Given the description of an element on the screen output the (x, y) to click on. 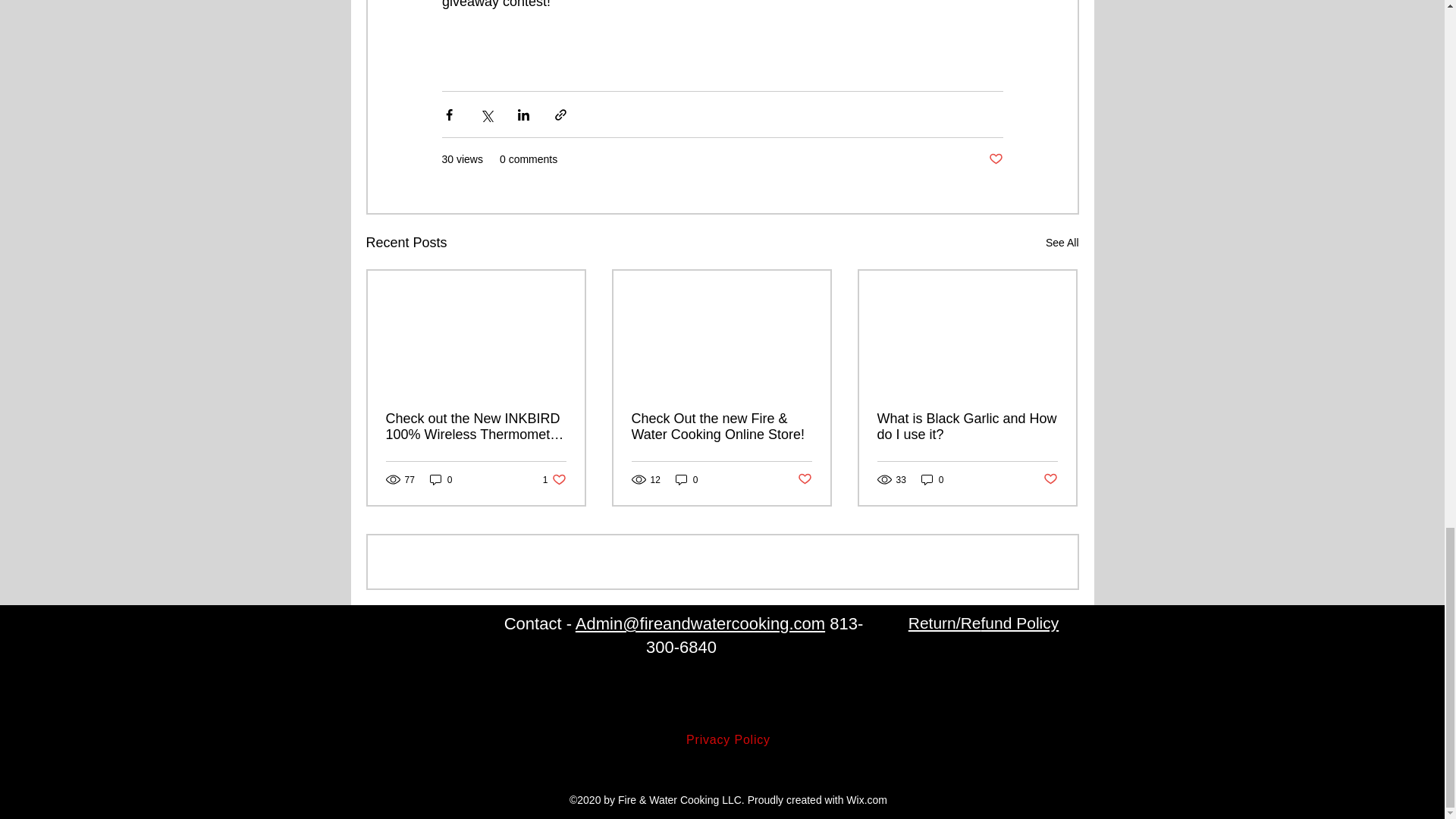
0 (441, 479)
Post not marked as liked (554, 479)
See All (804, 479)
0 (1061, 242)
Post not marked as liked (687, 479)
